Given the description of an element on the screen output the (x, y) to click on. 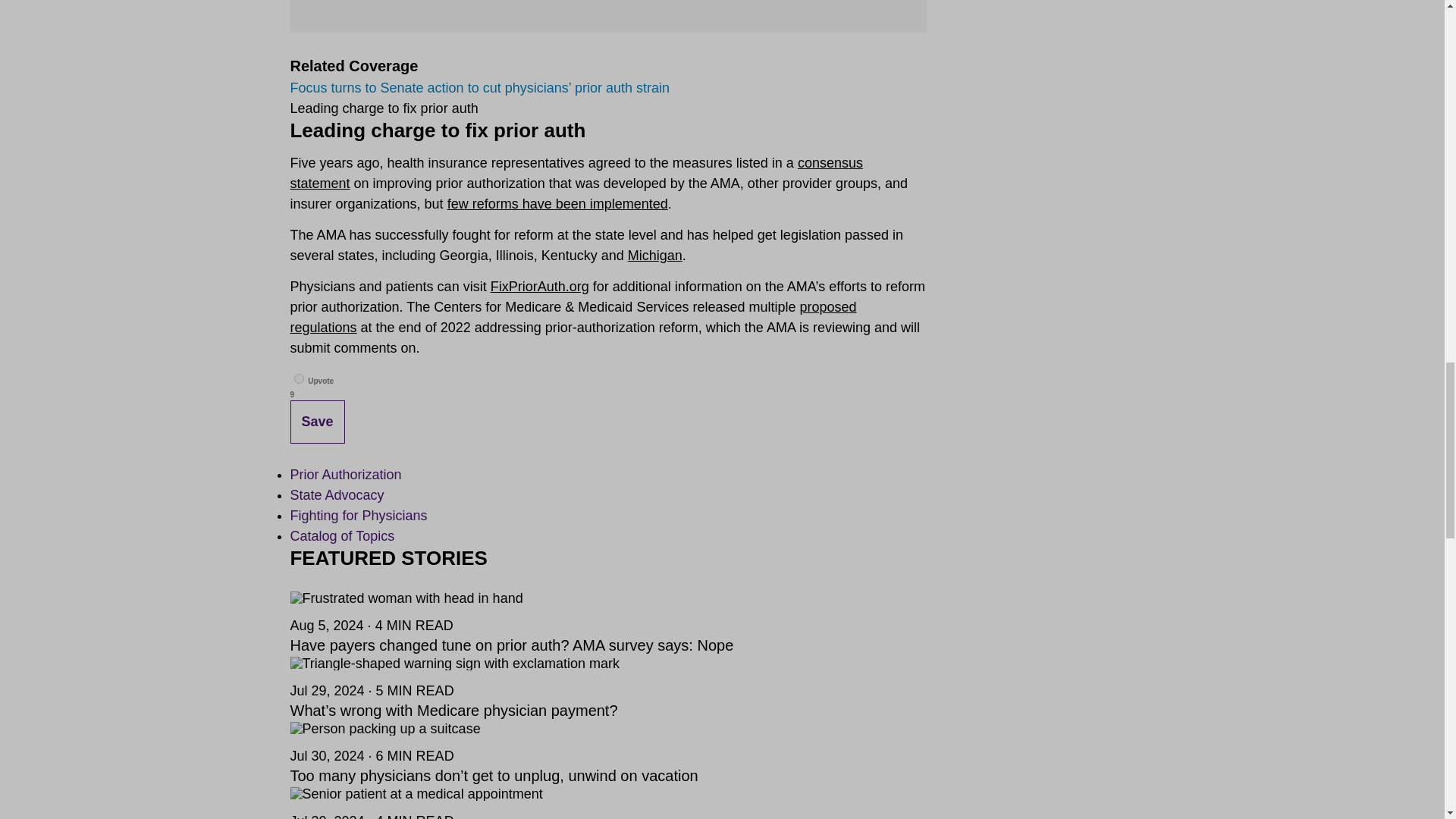
Save (316, 421)
1 (299, 378)
